Given the description of an element on the screen output the (x, y) to click on. 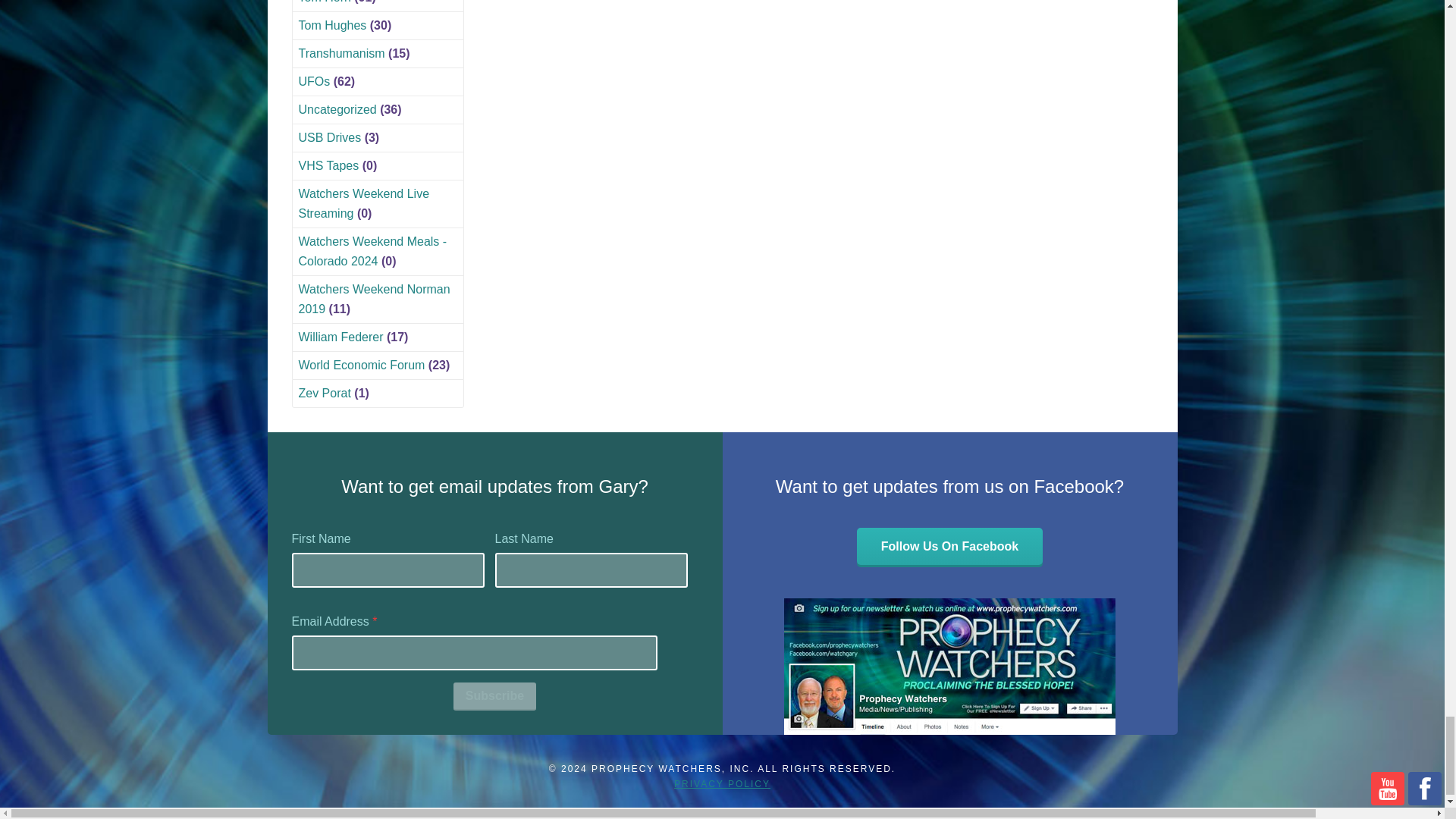
Subscribe (493, 696)
